Given the description of an element on the screen output the (x, y) to click on. 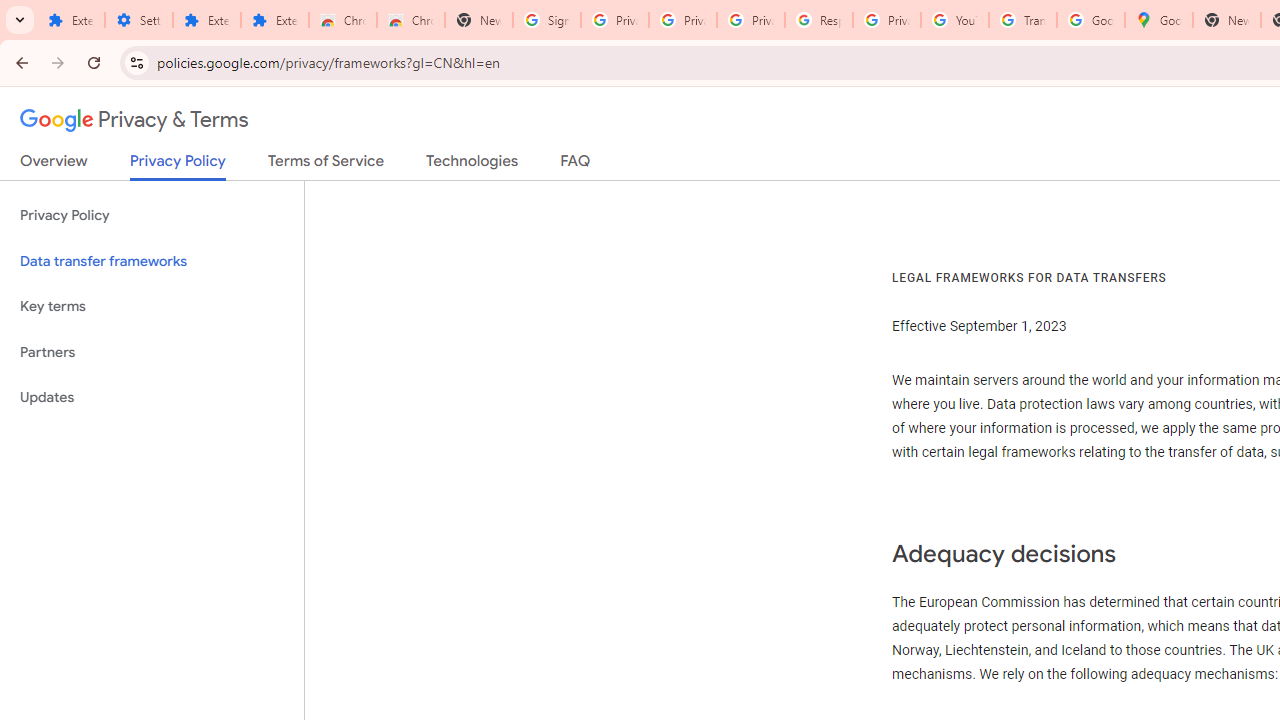
Extensions (206, 20)
New Tab (479, 20)
Chrome Web Store - Themes (411, 20)
Extensions (70, 20)
Sign in - Google Accounts (547, 20)
